Given the description of an element on the screen output the (x, y) to click on. 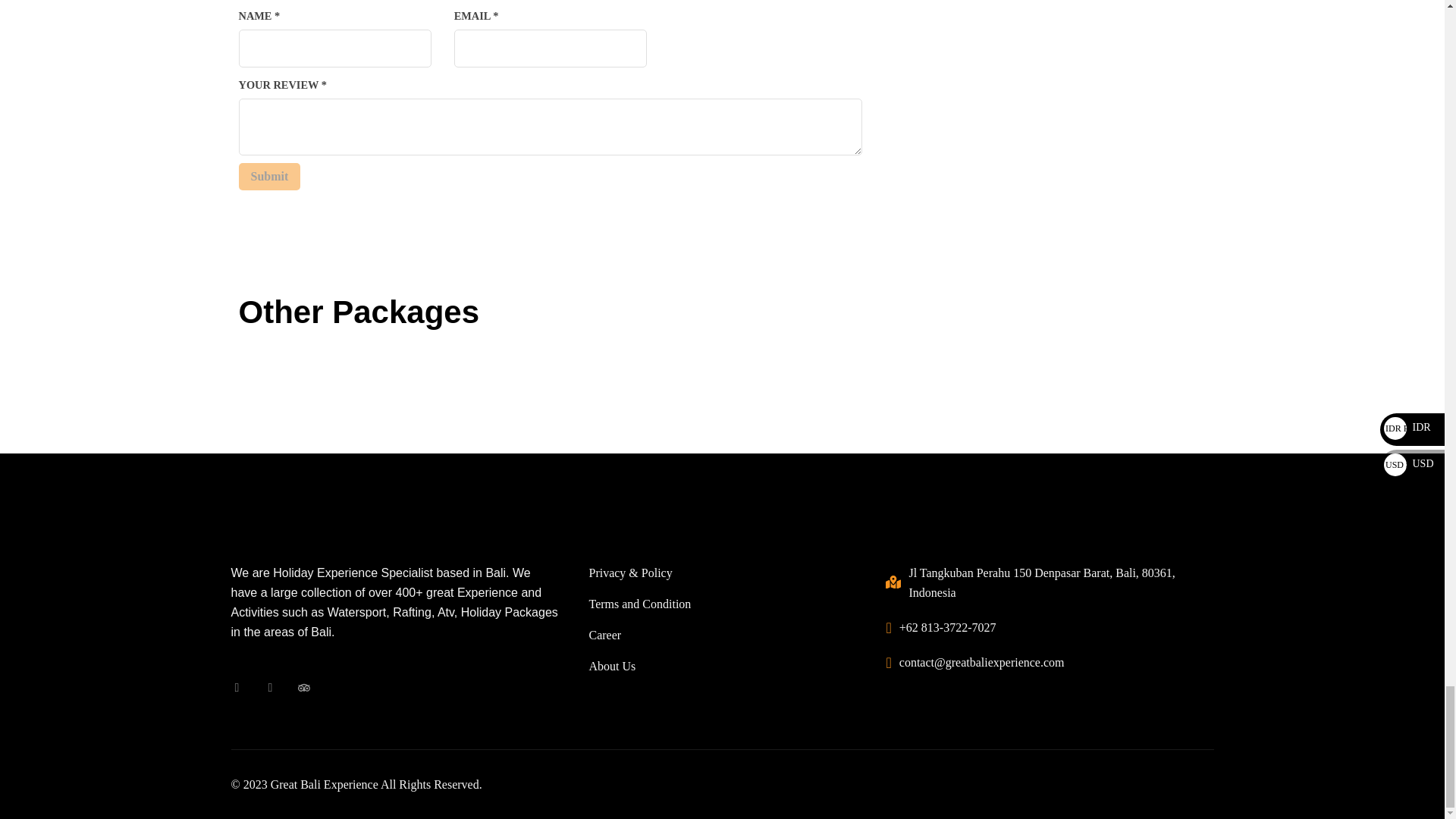
Submit (268, 176)
